Given the description of an element on the screen output the (x, y) to click on. 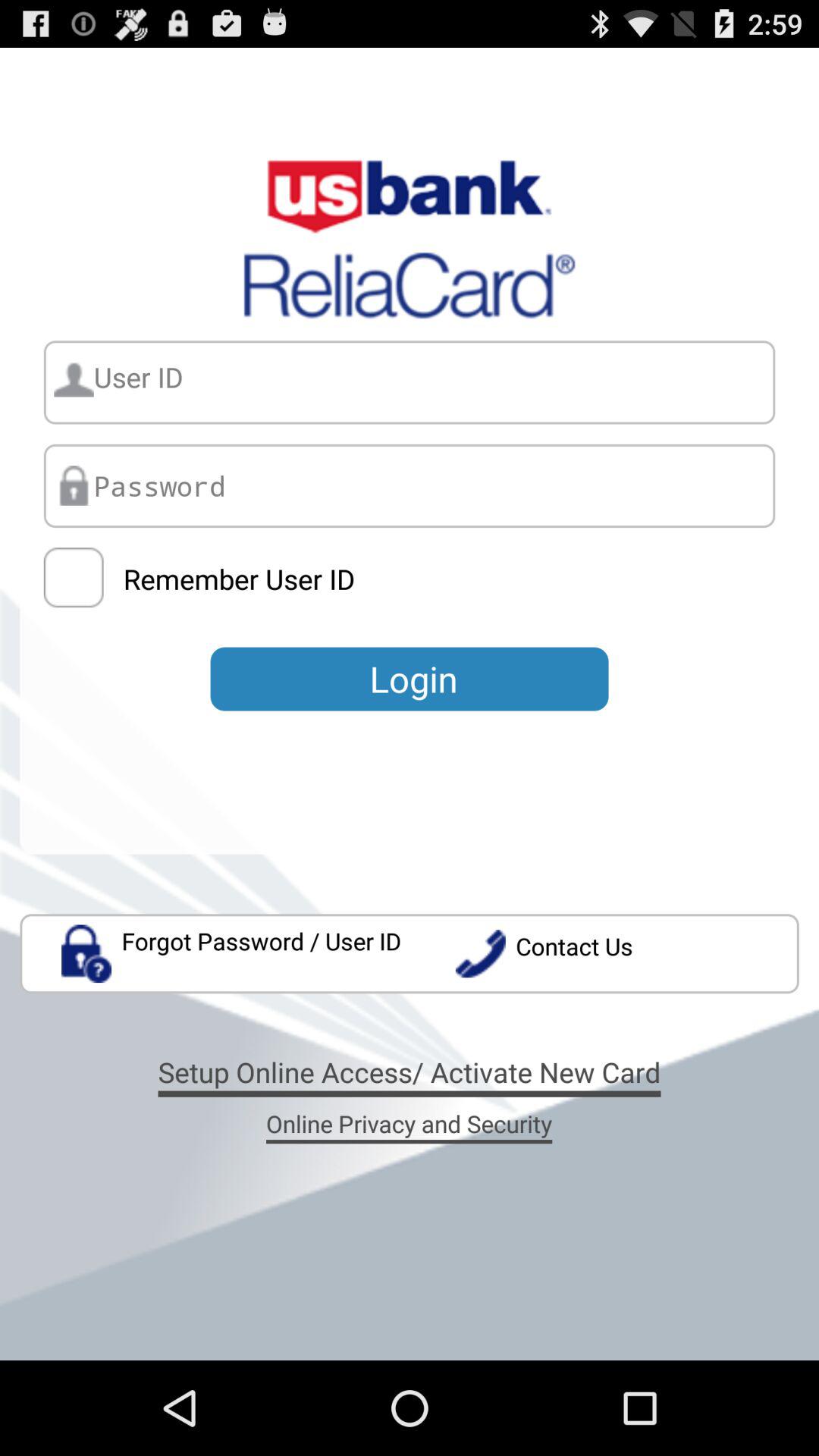
tap the online privacy and item (409, 1123)
